Given the description of an element on the screen output the (x, y) to click on. 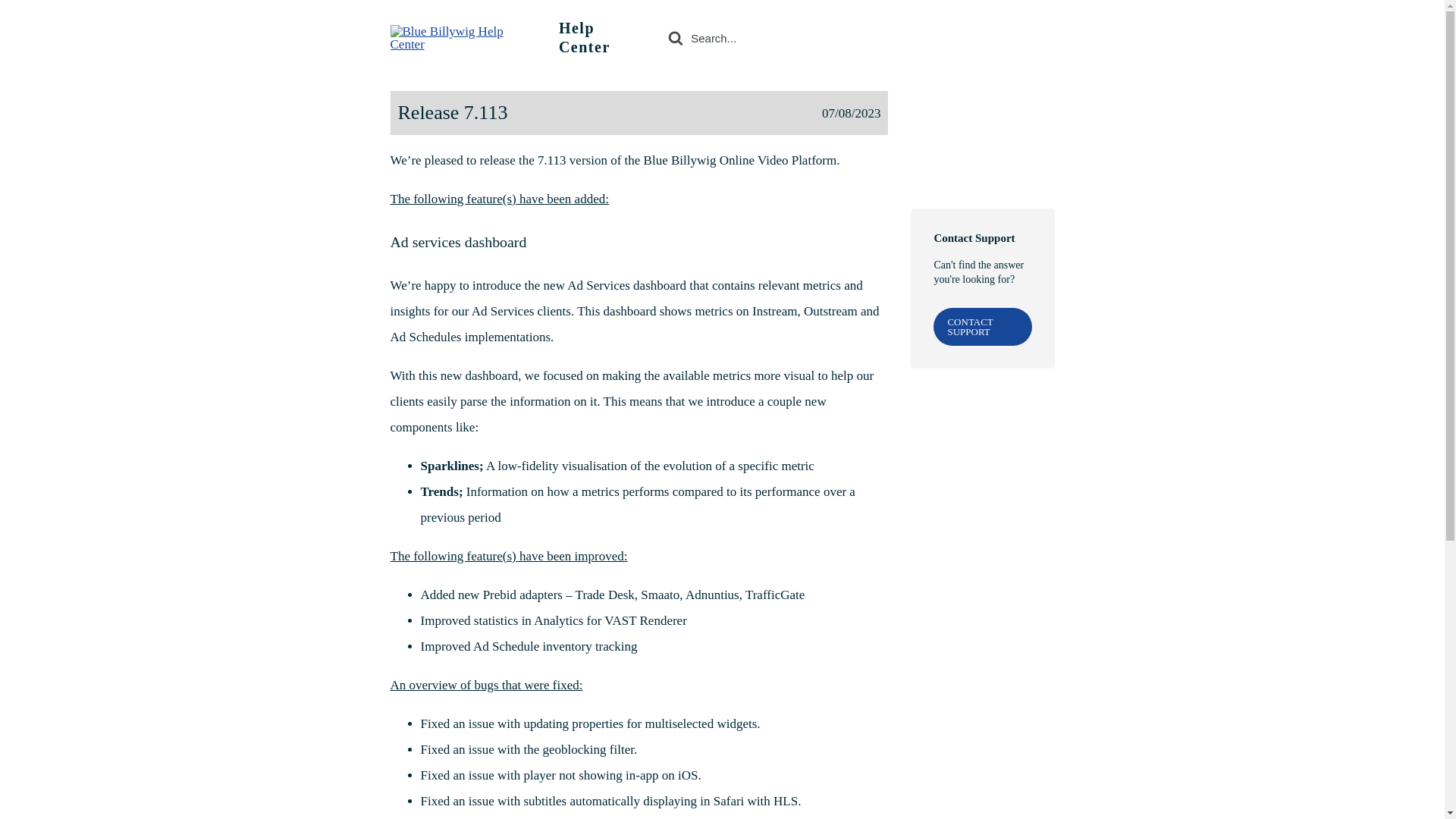
Topics (915, 37)
CONTACT SUPPORT (981, 326)
Status (974, 37)
Contact (1030, 37)
